Given the description of an element on the screen output the (x, y) to click on. 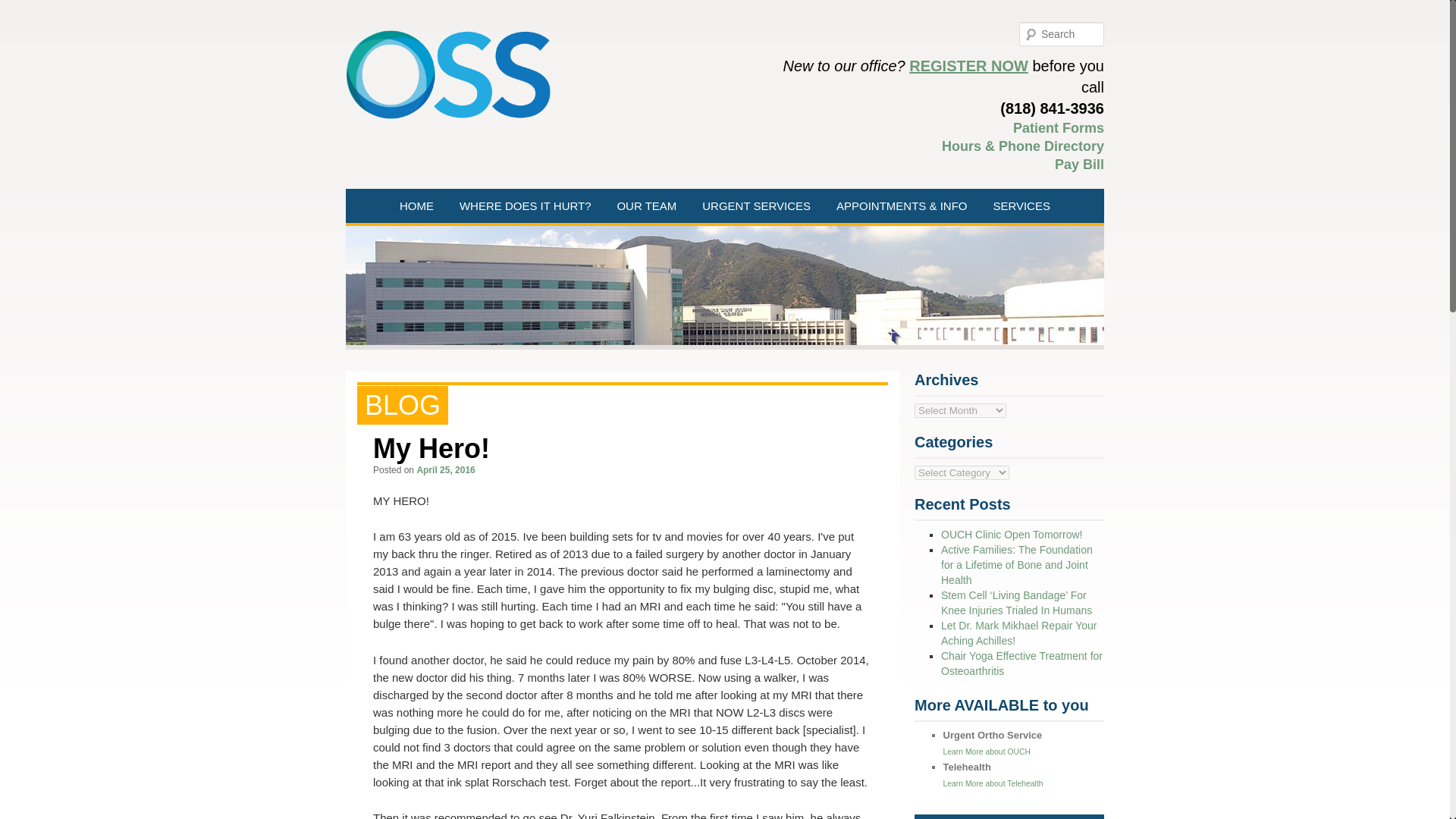
Pay Bill (1078, 164)
REGISTER NOW (967, 65)
MAKE AN APPOINTMENT (933, 235)
8:00 am (445, 470)
WHERE DOES IT HURT? (525, 205)
NECK (556, 235)
OUCH (799, 235)
STEPHAN V. YACOUBIAN, M.D. (713, 241)
Search (22, 8)
Patient Forms (1058, 127)
Orthopaedic Surgery Specialists Burbank California (448, 74)
OUR TEAM (646, 205)
HOME (416, 205)
